Given the description of an element on the screen output the (x, y) to click on. 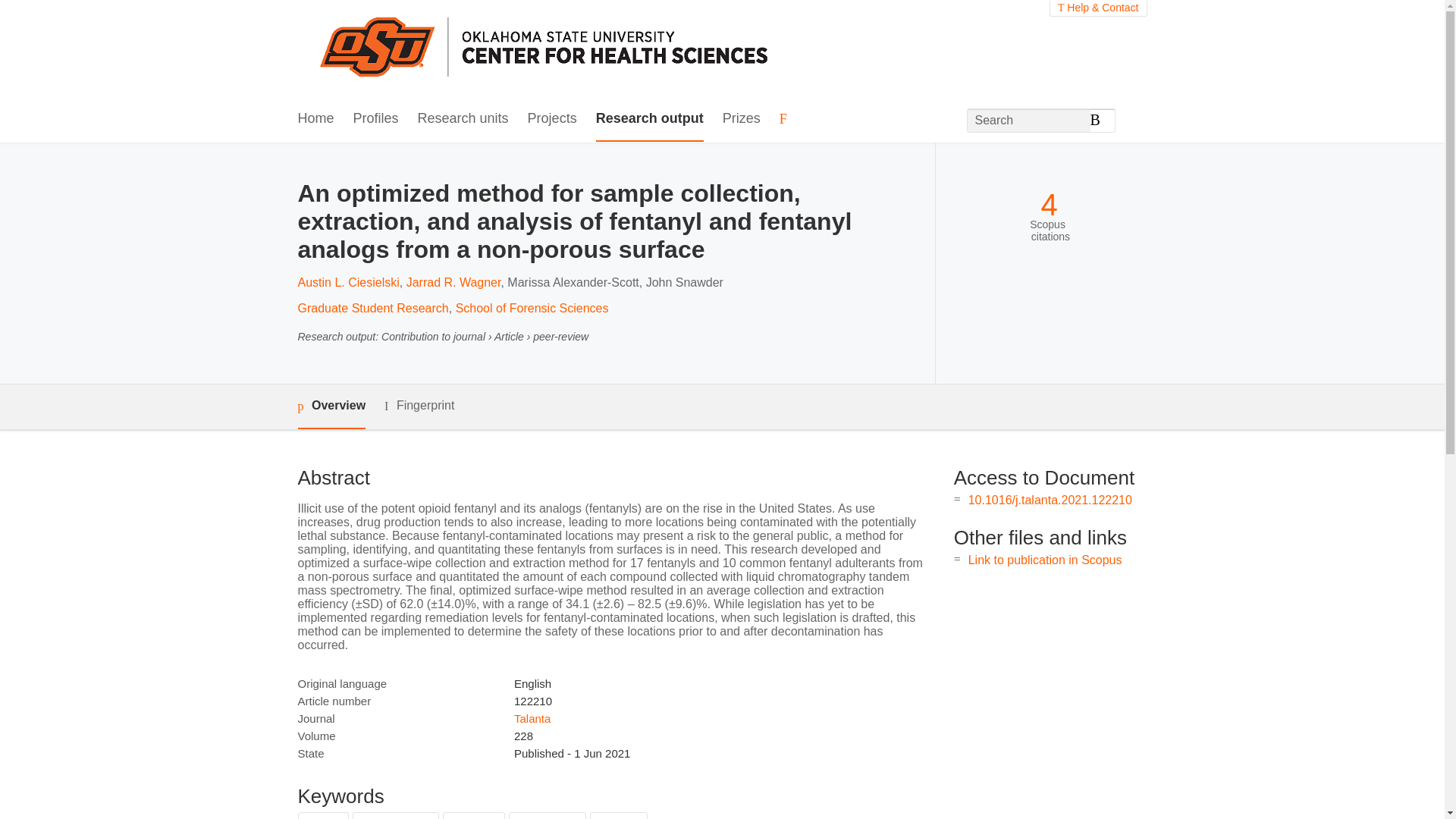
Research output (649, 119)
Projects (551, 119)
School of Forensic Sciences (531, 308)
Overview (331, 406)
Austin L. Ciesielski (347, 282)
OSU Center for Health Sciences Research Profiles Home (549, 48)
Graduate Student Research (372, 308)
Link to publication in Scopus (1045, 559)
Profiles (375, 119)
